Given the description of an element on the screen output the (x, y) to click on. 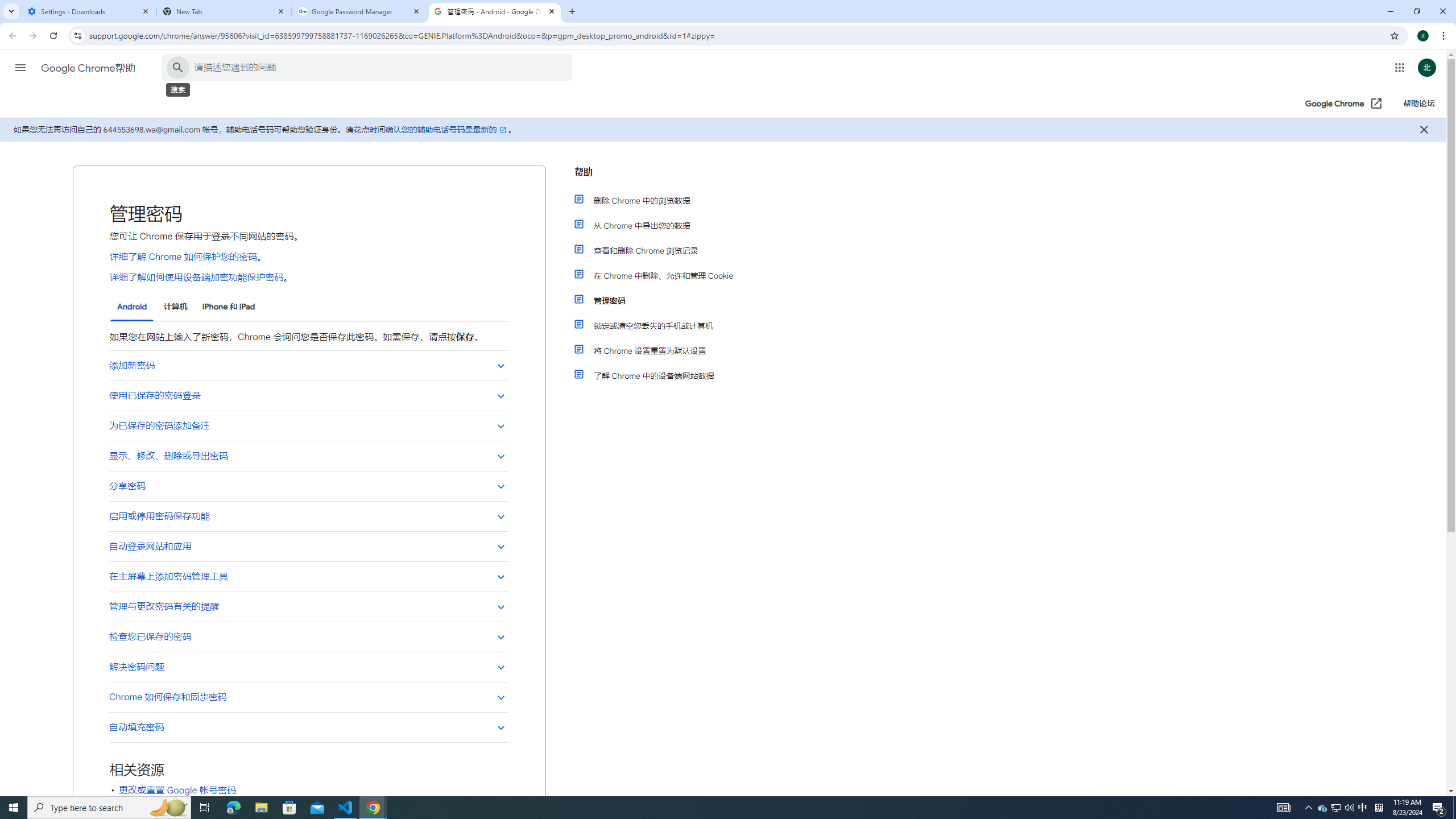
New Tab (224, 11)
Settings - Downloads (88, 11)
